Given the description of an element on the screen output the (x, y) to click on. 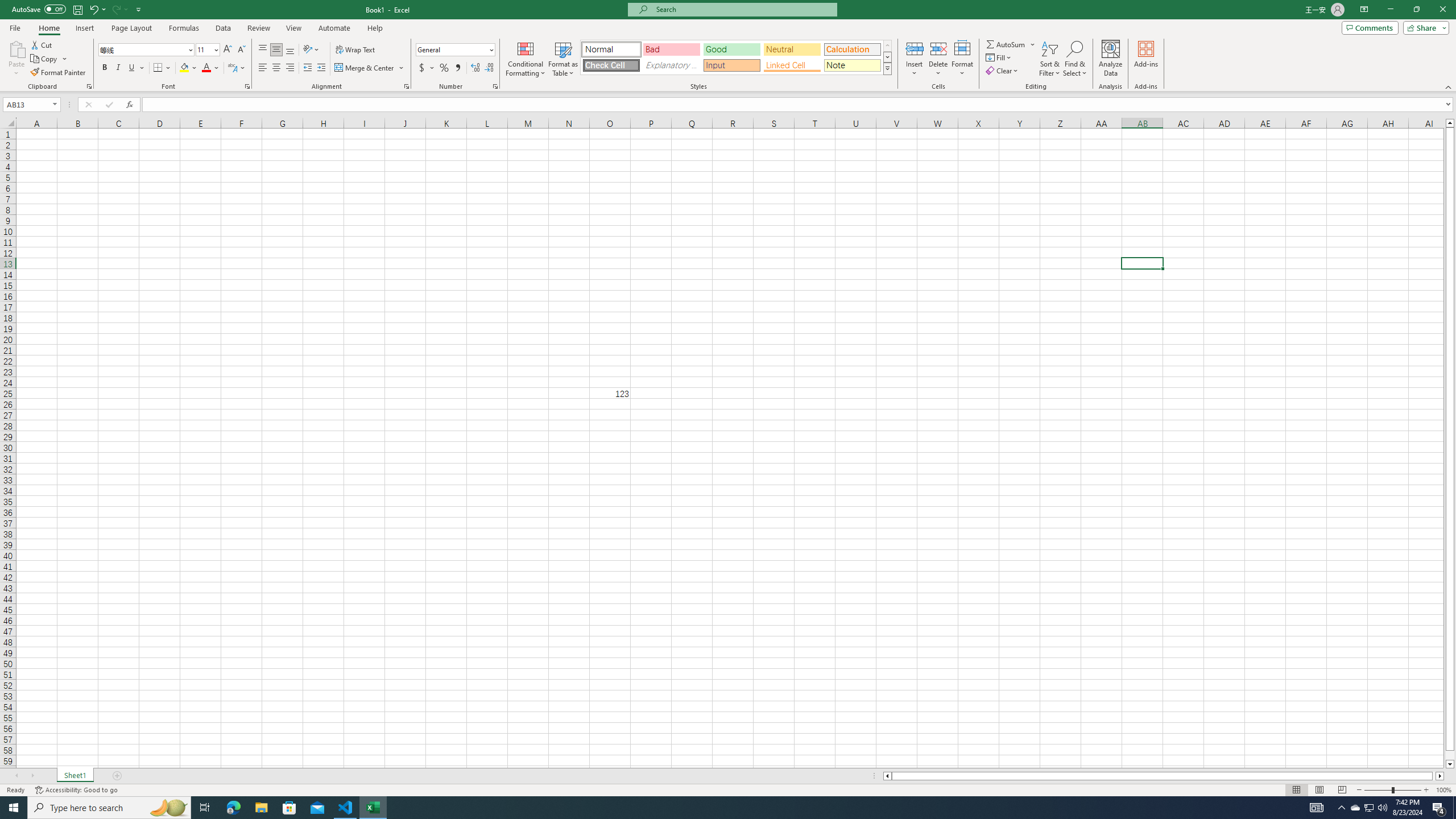
Office Clipboard... (88, 85)
AutoSum (1011, 44)
Line down (1449, 764)
Accounting Number Format (426, 67)
Font Size (207, 49)
Format Cell Font (247, 85)
Center (276, 67)
Accessibility Checker Accessibility: Good to go (76, 790)
Find & Select (1075, 58)
Paste (16, 48)
Zoom Out (1377, 790)
Row up (887, 45)
Decrease Indent (307, 67)
